Given the description of an element on the screen output the (x, y) to click on. 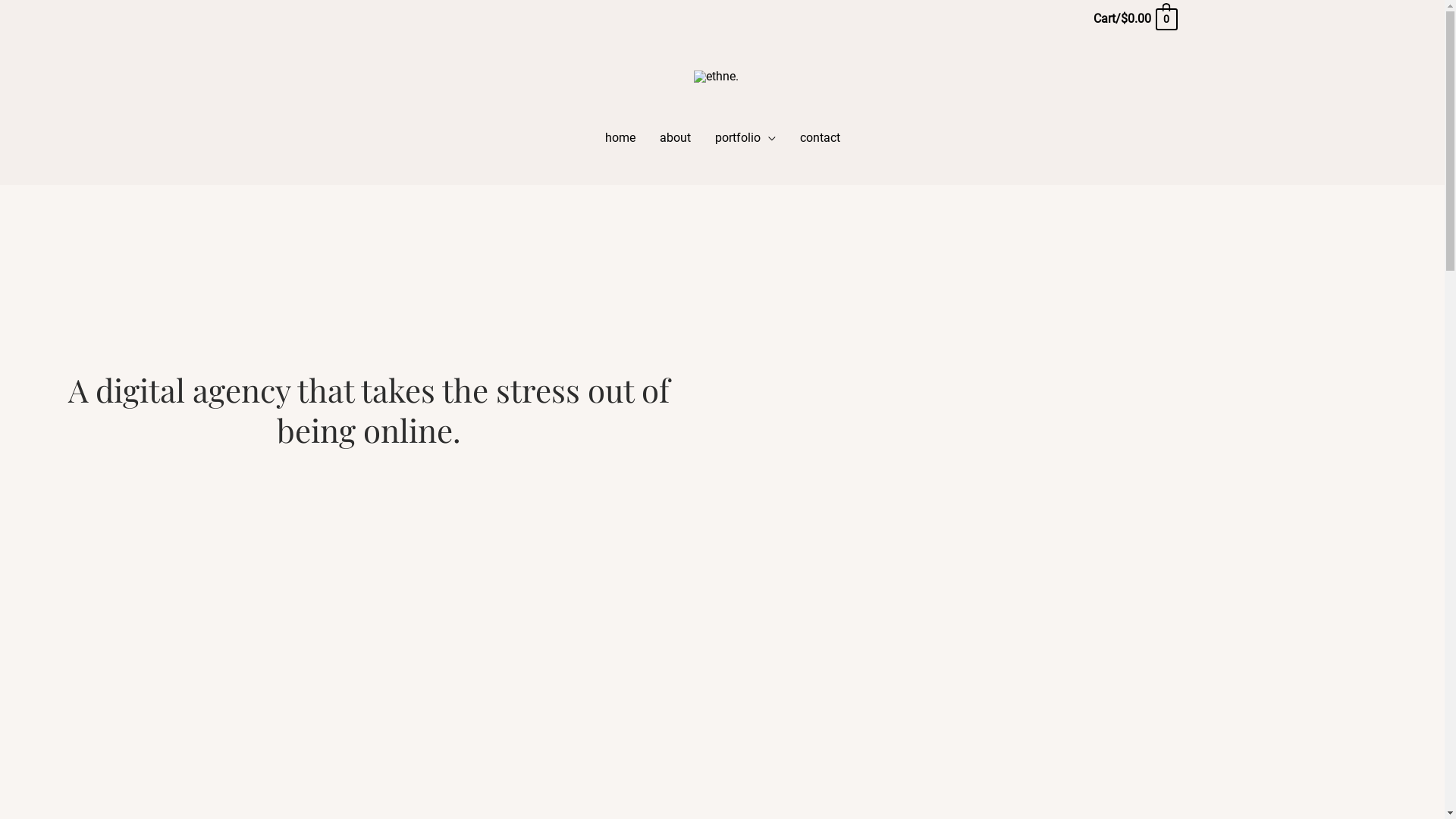
portfolio Element type: text (744, 137)
home Element type: text (620, 137)
about Element type: text (674, 137)
contact Element type: text (819, 137)
Cart/$0.00
0 Element type: text (1134, 18)
